Given the description of an element on the screen output the (x, y) to click on. 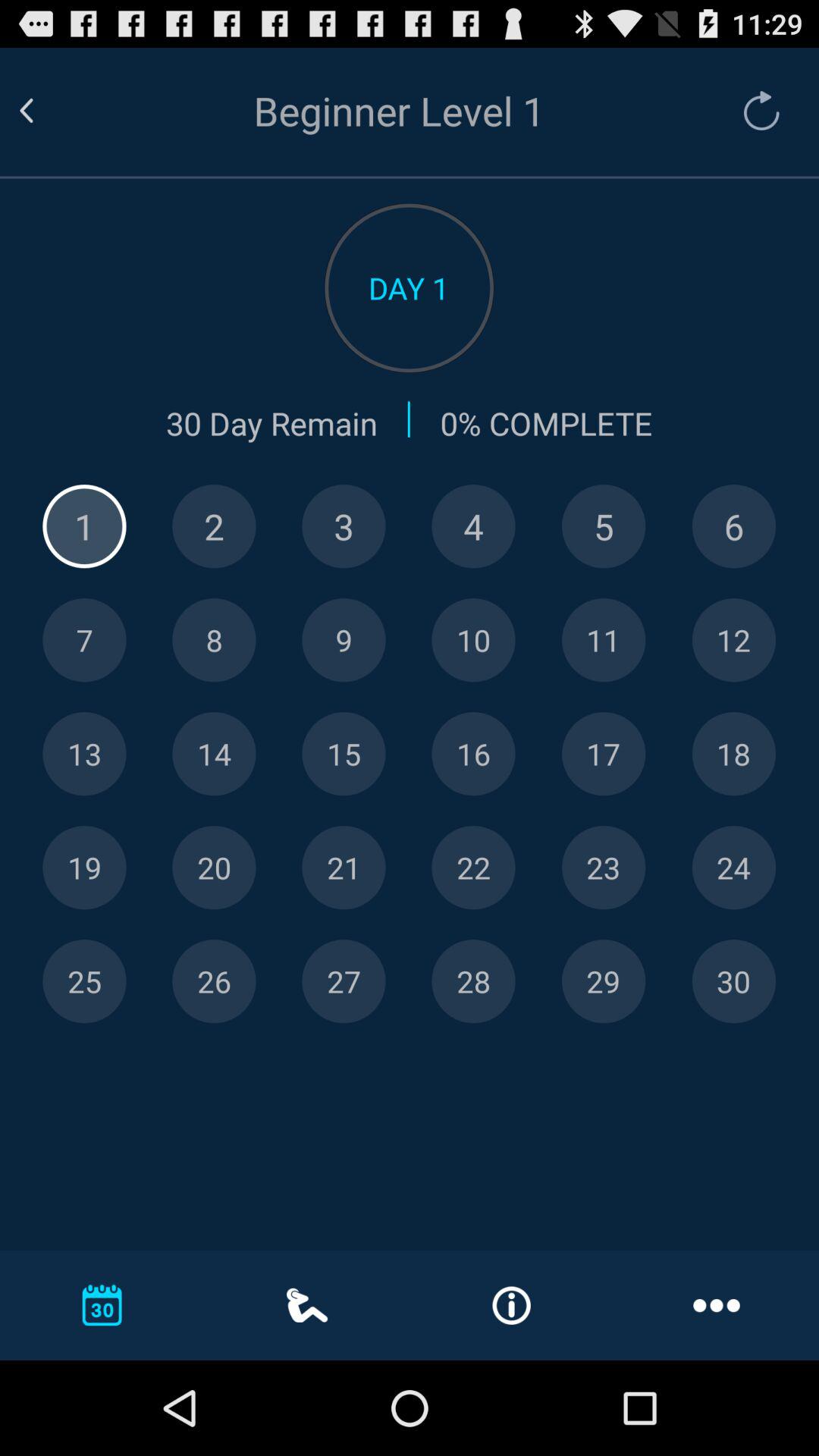
let you look at that specific day (84, 639)
